Given the description of an element on the screen output the (x, y) to click on. 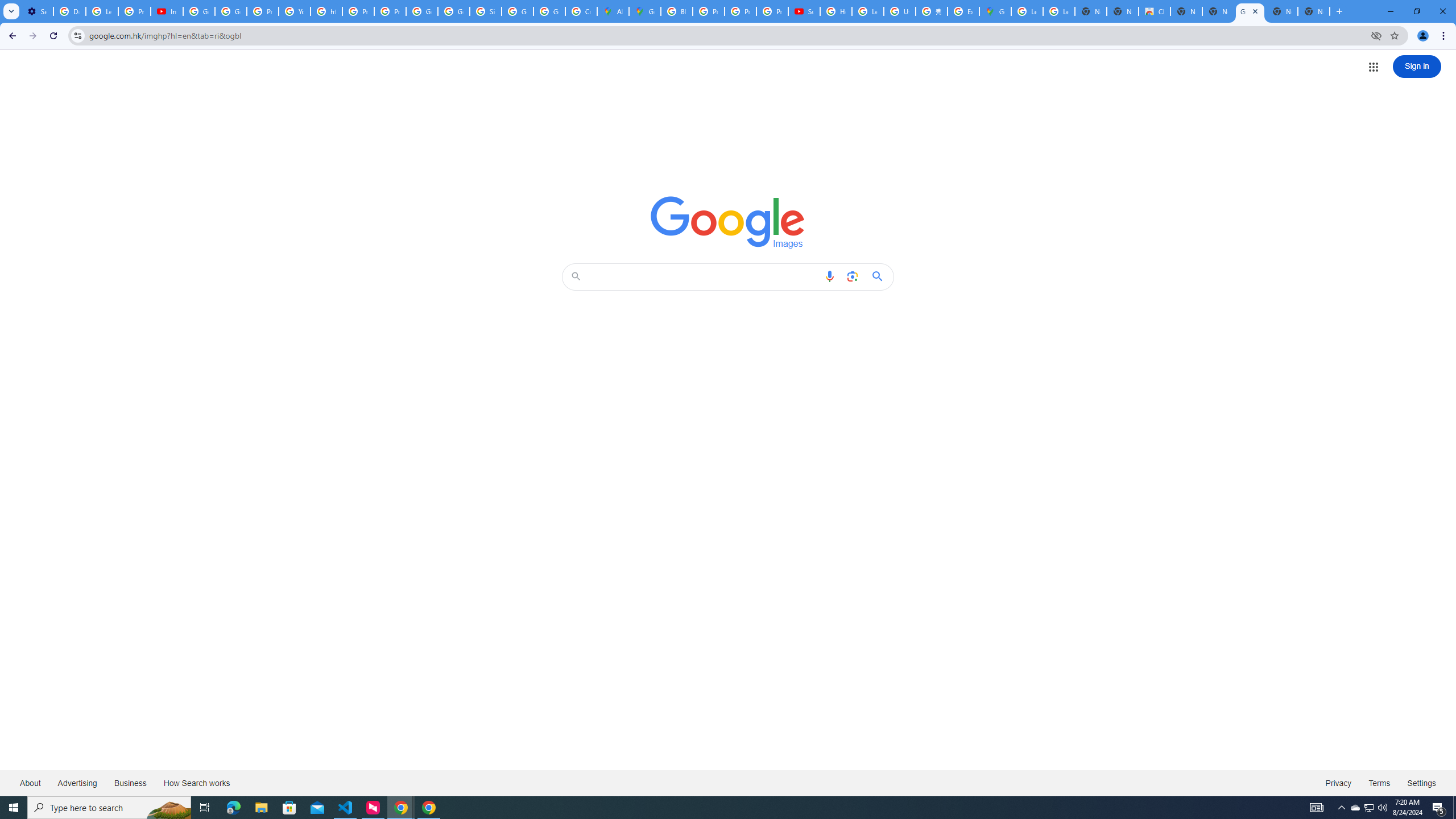
Privacy Help Center - Policies Help (708, 11)
Explore new street-level details - Google Maps Help (963, 11)
Sign in - Google Accounts (485, 11)
Settings (1421, 782)
Privacy Help Center - Policies Help (262, 11)
Advertising (77, 782)
Create your Google Account (581, 11)
